Given the description of an element on the screen output the (x, y) to click on. 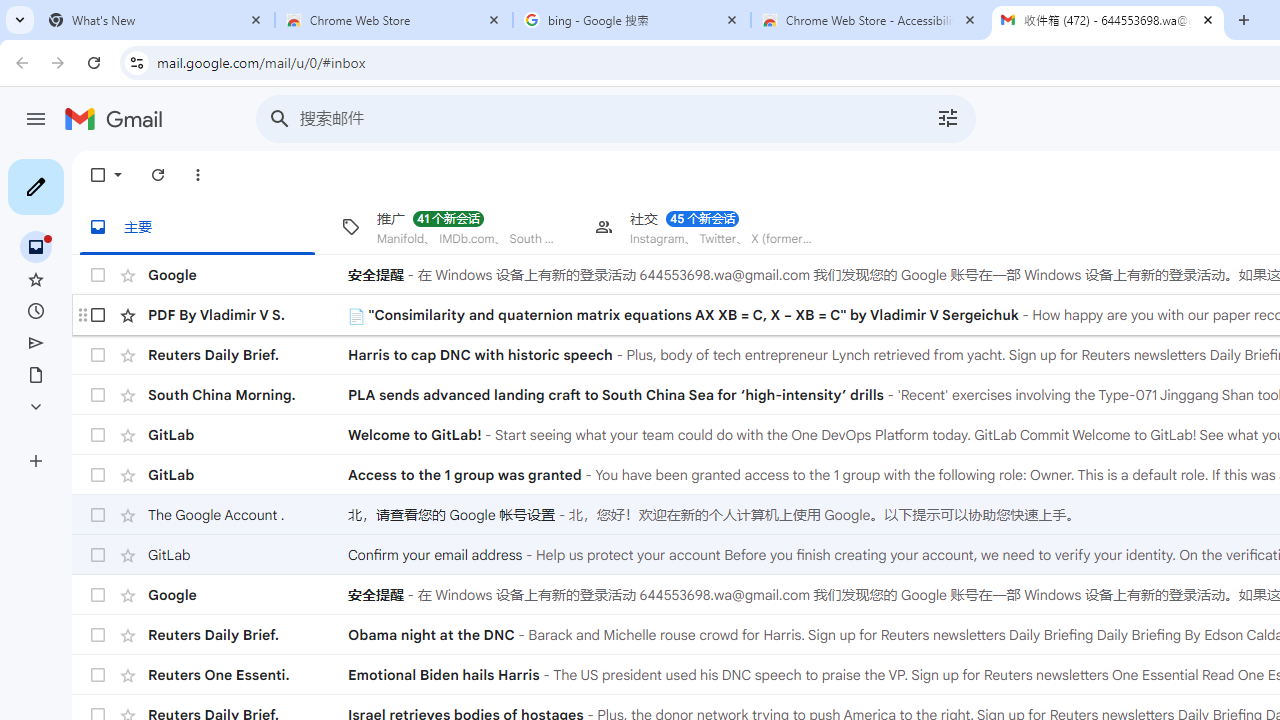
South China Morning. (248, 394)
